Given the description of an element on the screen output the (x, y) to click on. 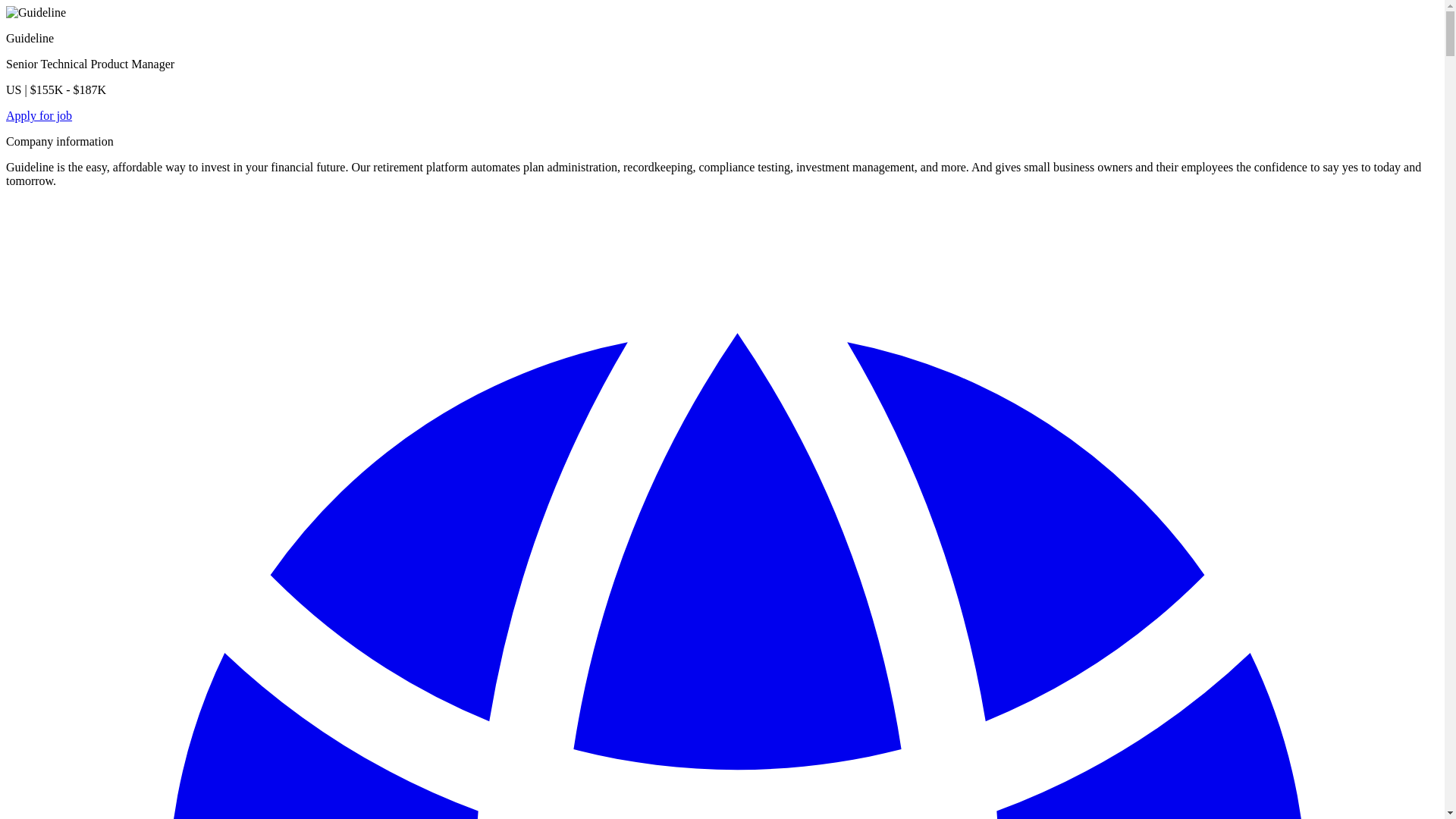
Apply for job (38, 115)
